Given the description of an element on the screen output the (x, y) to click on. 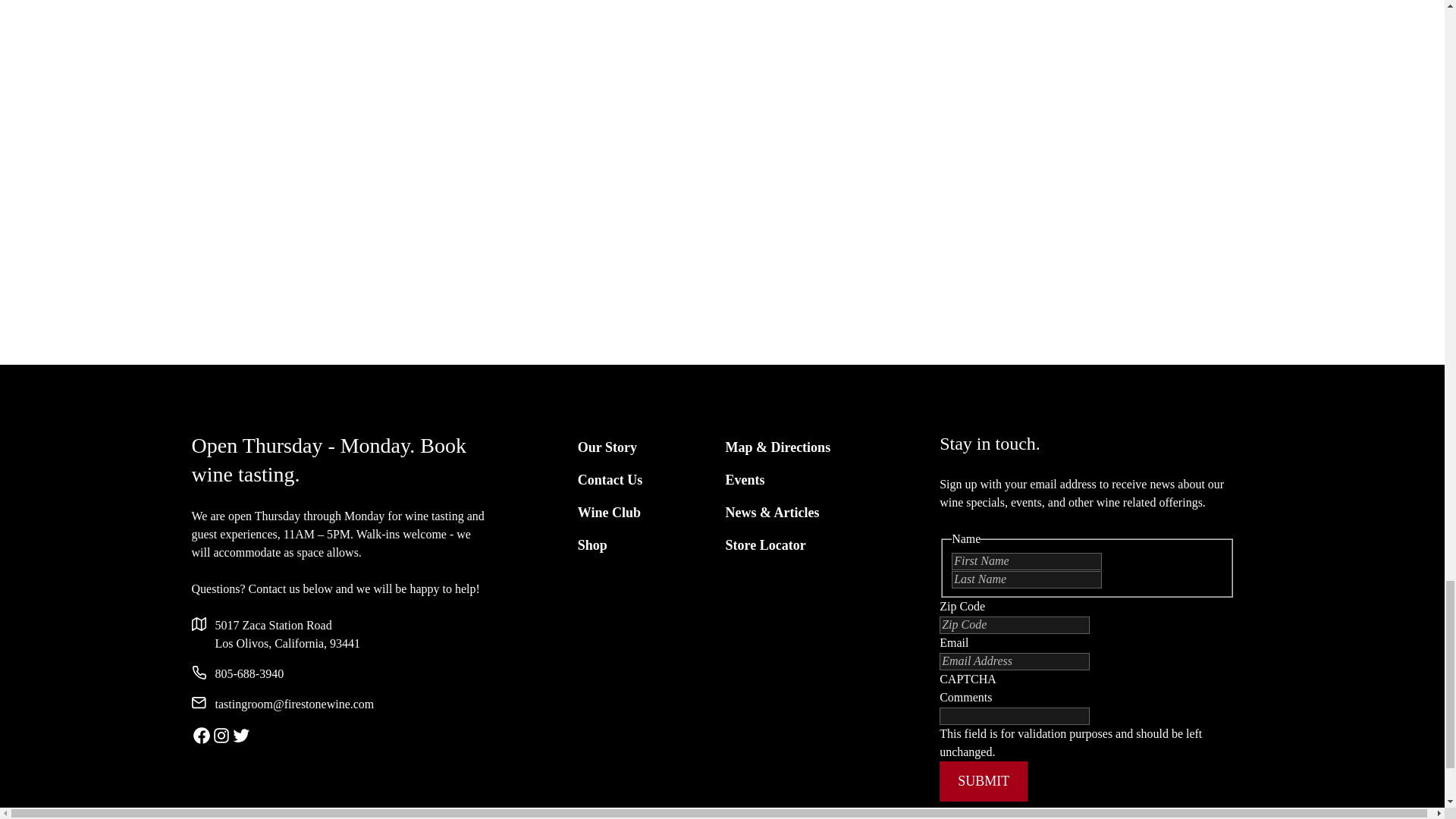
Submit (983, 781)
